Given the description of an element on the screen output the (x, y) to click on. 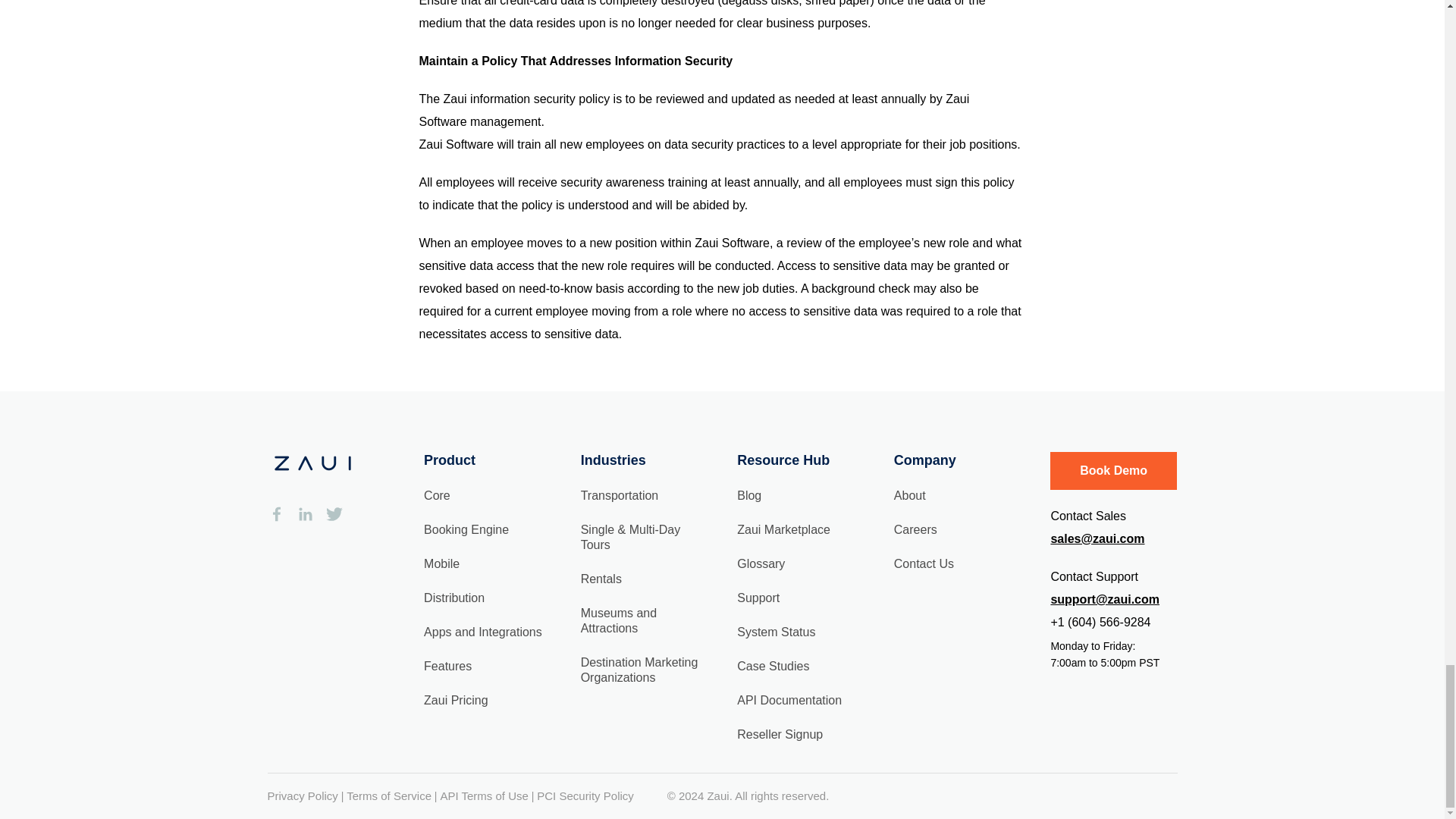
Features (447, 665)
Distribution (453, 596)
Zaui Marketplace (782, 528)
Zaui Pricing (455, 699)
Transportation (619, 495)
Mobile (441, 563)
Blog (748, 495)
Museums and Attractions (619, 619)
Destination Marketing Organizations (639, 669)
Rentals (600, 578)
Glossary (760, 563)
Core (436, 495)
Apps and Integrations (482, 631)
Booking Engine (465, 528)
